Given the description of an element on the screen output the (x, y) to click on. 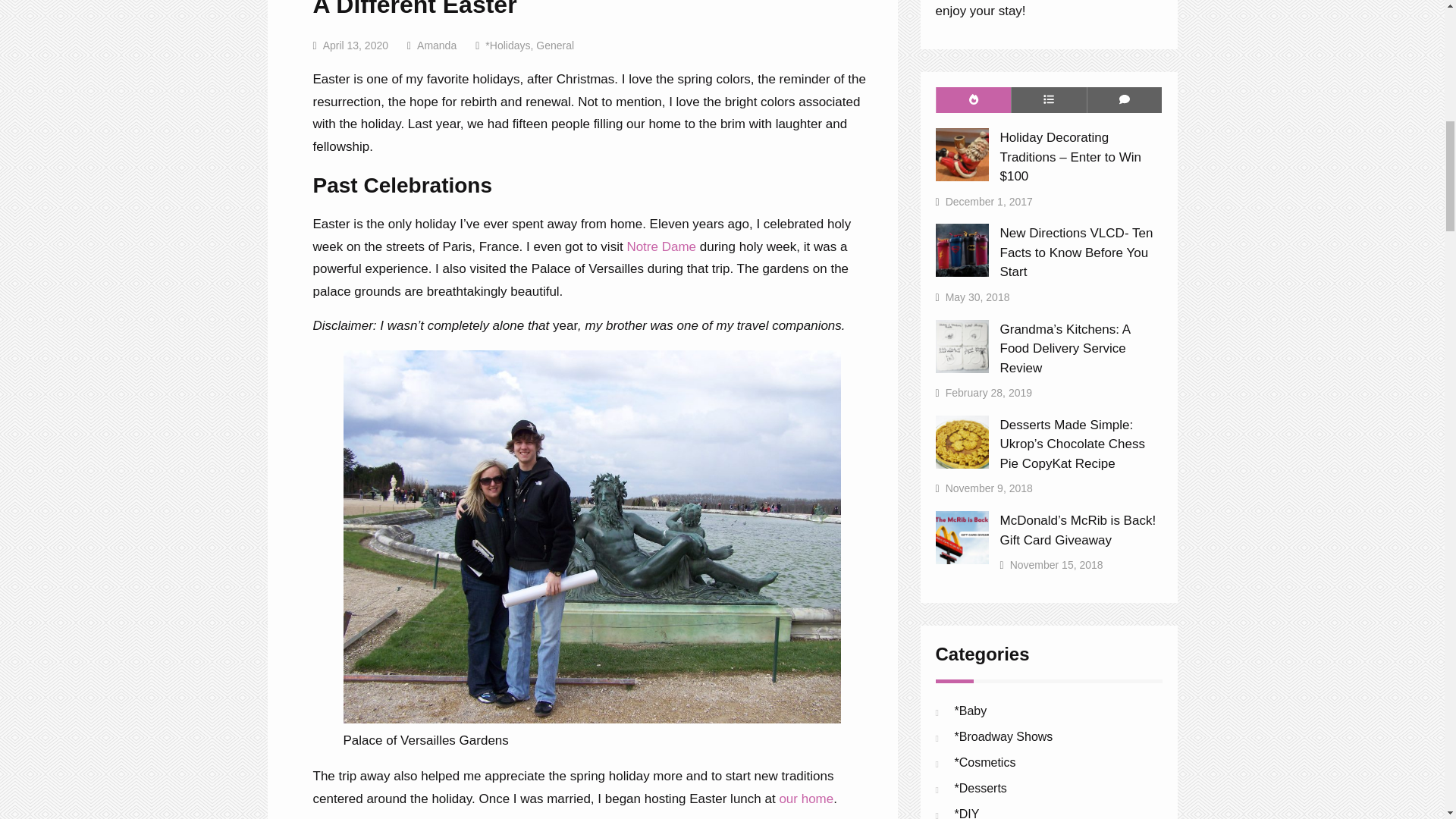
our home (805, 798)
April 13, 2020 (355, 45)
Amanda (436, 45)
Notre Dame (660, 246)
General (554, 45)
